Given the description of an element on the screen output the (x, y) to click on. 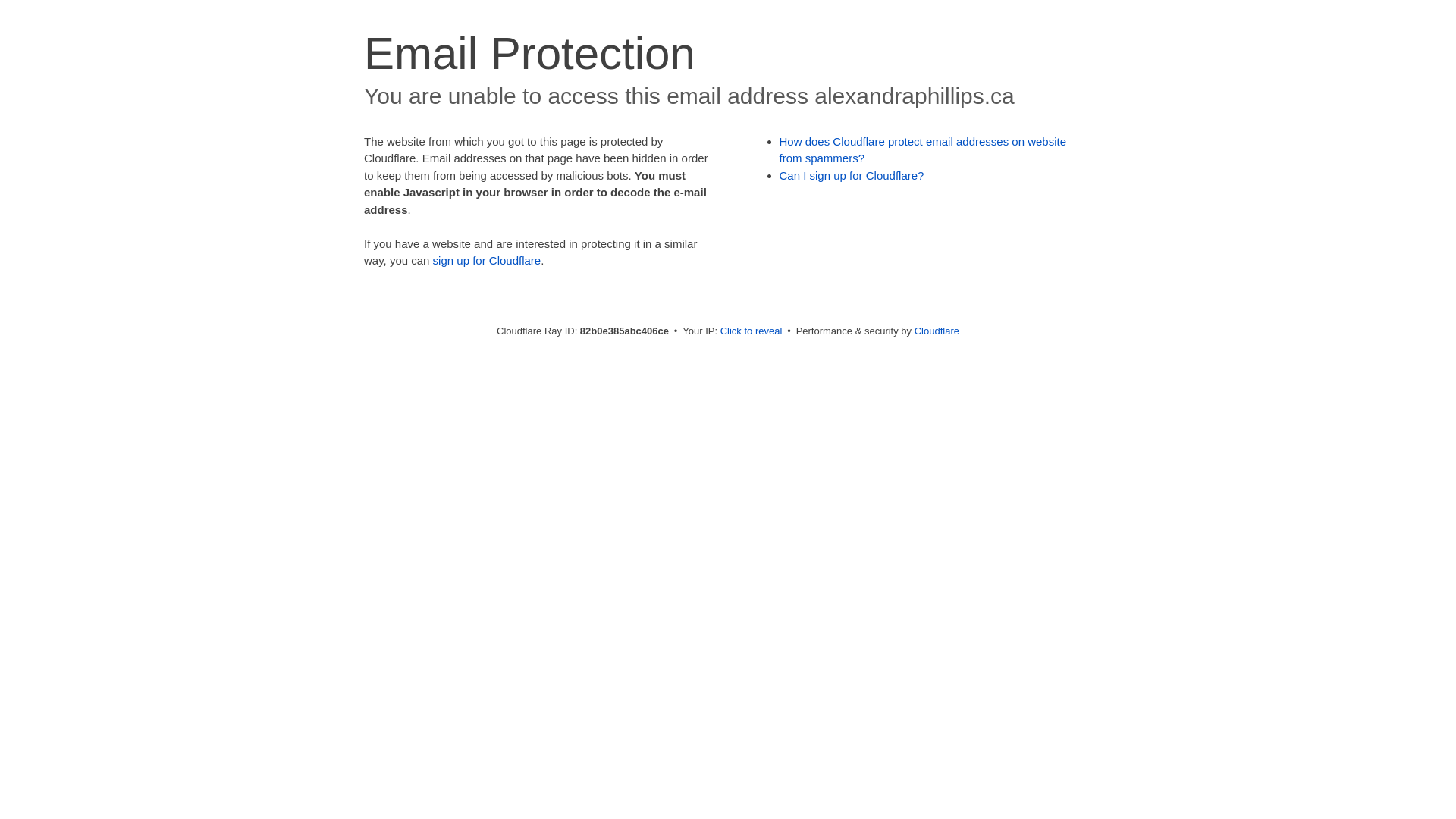
sign up for Cloudflare Element type: text (487, 260)
Can I sign up for Cloudflare? Element type: text (851, 175)
Cloudflare Element type: text (936, 330)
Click to reveal Element type: text (751, 330)
